Given the description of an element on the screen output the (x, y) to click on. 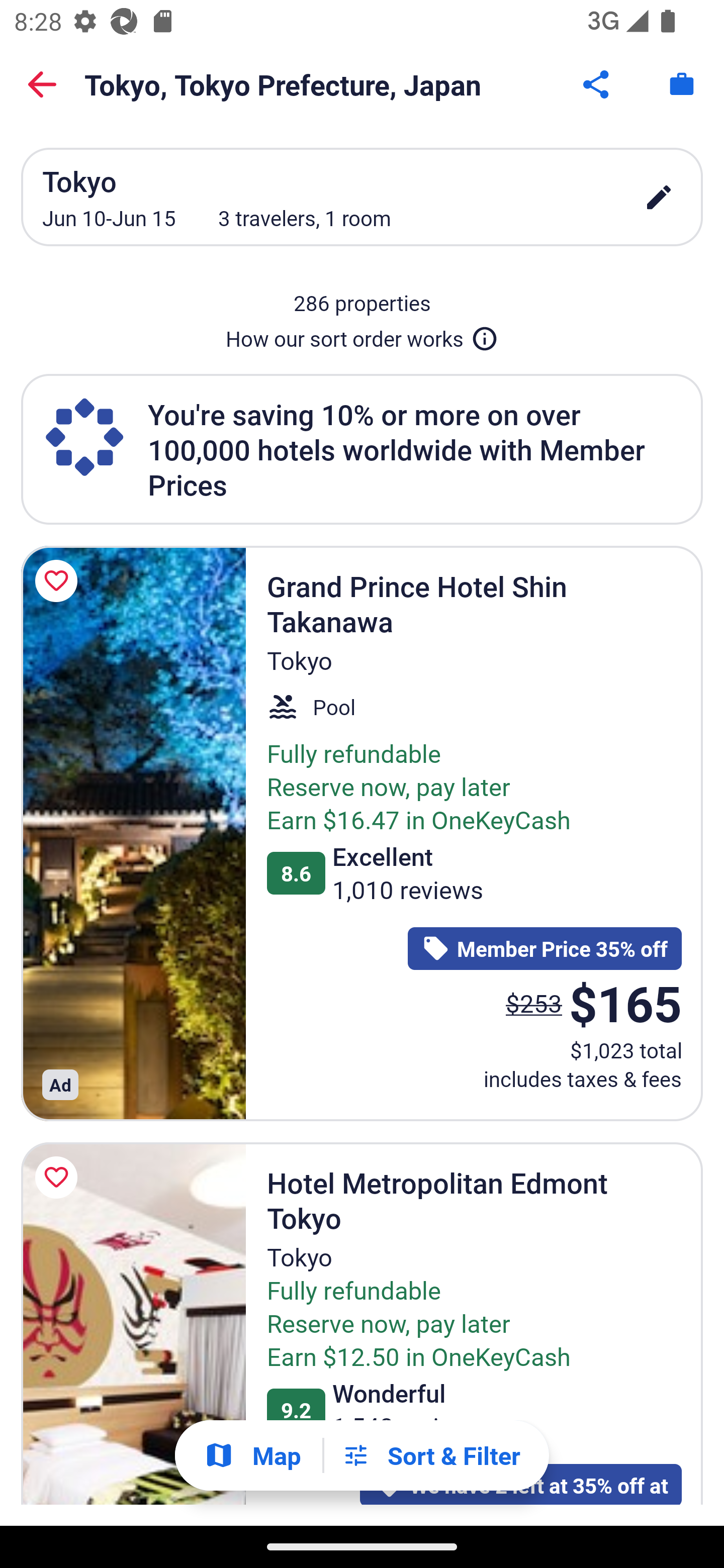
Back (42, 84)
Share Button (597, 84)
Trips. Button (681, 84)
Tokyo Jun 10-Jun 15 3 travelers, 1 room edit (361, 196)
How our sort order works (361, 334)
Save Grand Prince Hotel Shin Takanawa to a trip (59, 580)
Grand Prince Hotel Shin Takanawa (133, 833)
$253 The price was $253 (533, 1003)
Save Hotel Metropolitan Edmont Tokyo to a trip (59, 1177)
Hotel Metropolitan Edmont Tokyo (133, 1324)
Filters Sort & Filter Filters Button (430, 1455)
Show map Map Show map Button (252, 1455)
